Given the description of an element on the screen output the (x, y) to click on. 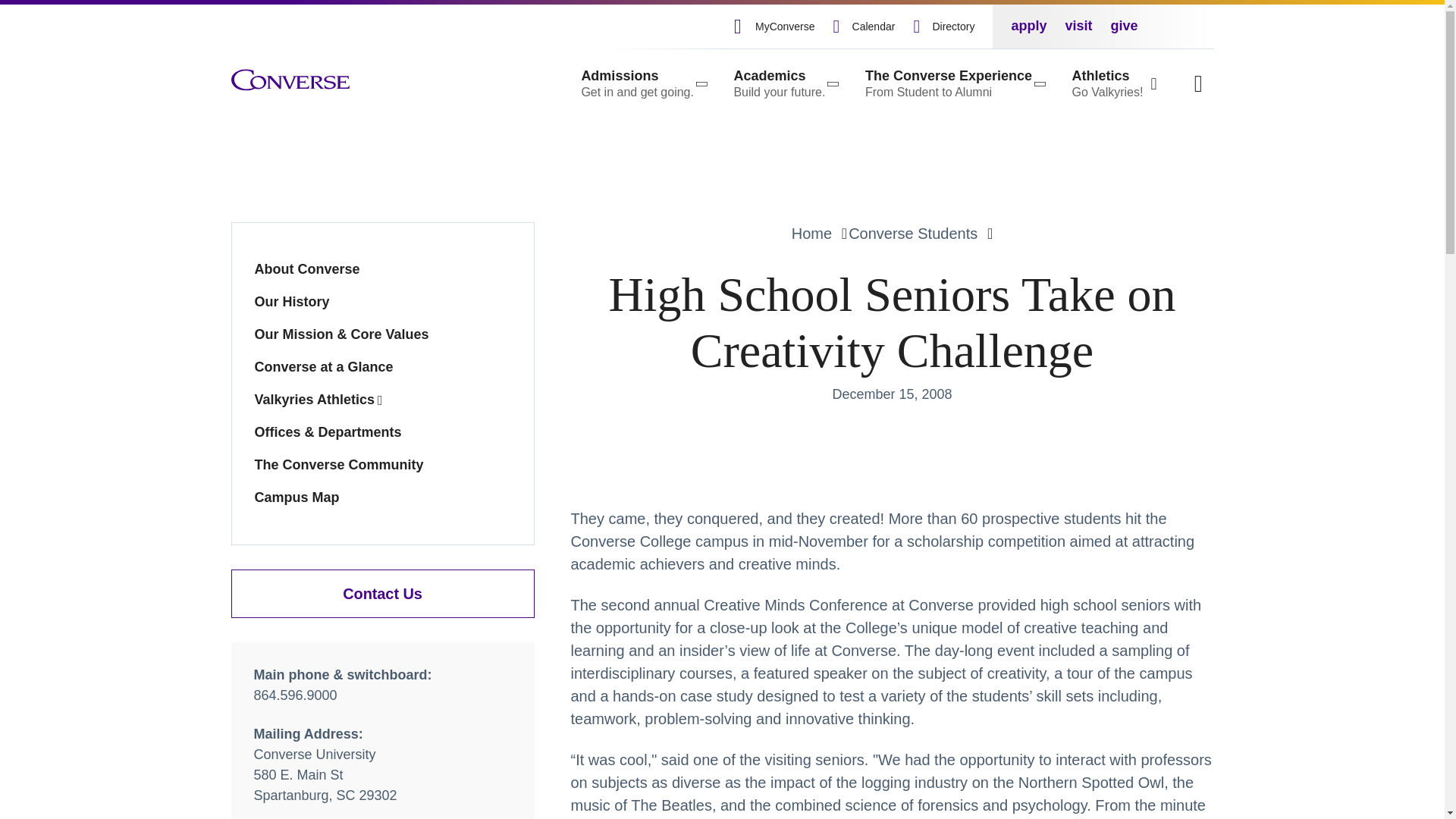
Toggle Sub-Menu (953, 83)
Toggle Sub-Menu (784, 83)
Open Site Search (1198, 83)
Converse University (642, 83)
Toggle Sub-Menu (289, 80)
